Given the description of an element on the screen output the (x, y) to click on. 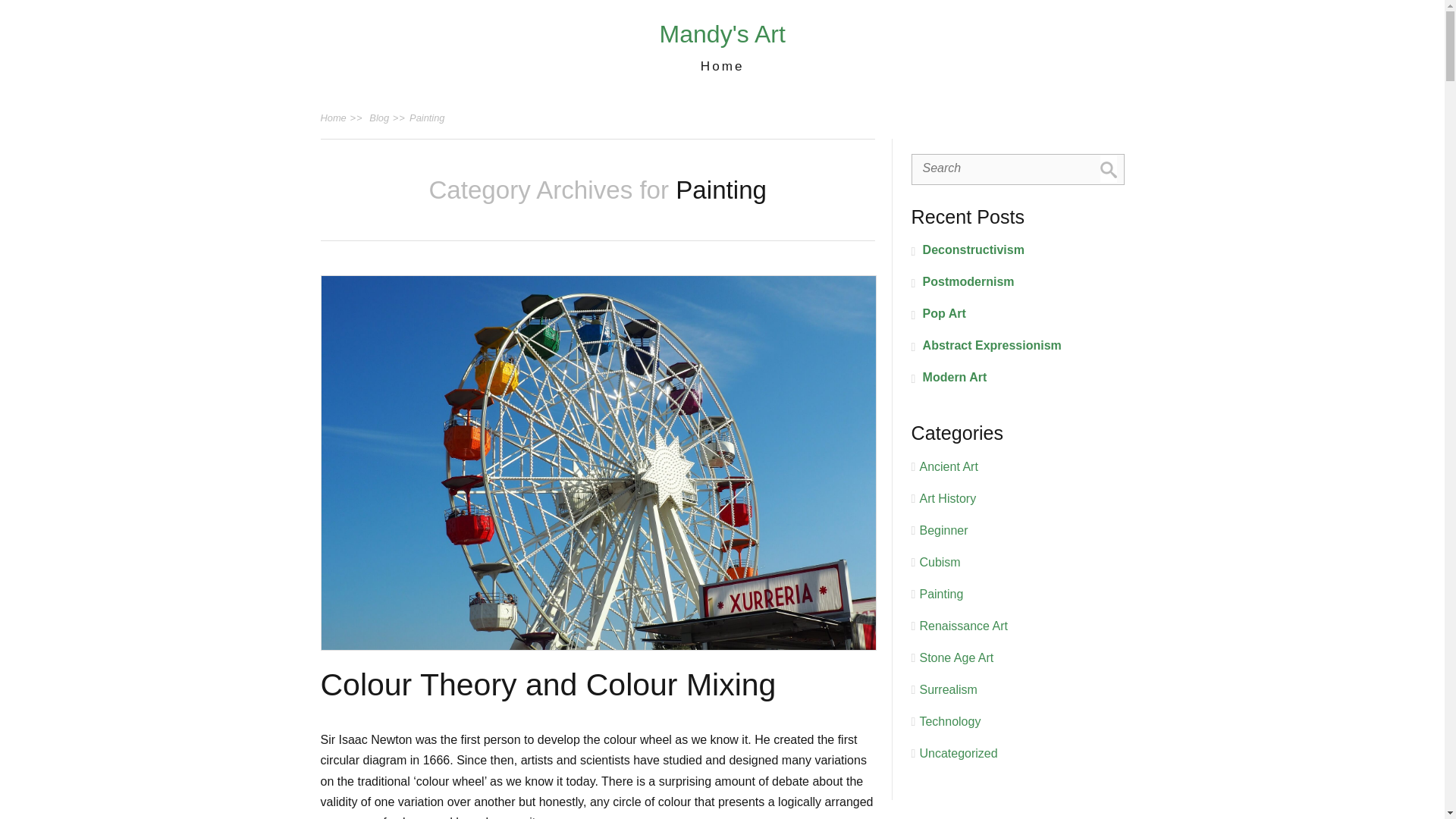
Uncategorized (957, 753)
Home (721, 65)
Beginner (943, 530)
Postmodernism (1017, 281)
Stone Age Art (955, 657)
Painting (426, 117)
Pop Art (1017, 313)
Renaissance Art (962, 625)
Deconstructivism (1017, 249)
Abstract Expressionism (1017, 345)
Colour Theory and Colour Mixing (548, 684)
Surrealism (947, 689)
Painting (940, 594)
Modern Art (1017, 377)
Art History (946, 498)
